Given the description of an element on the screen output the (x, y) to click on. 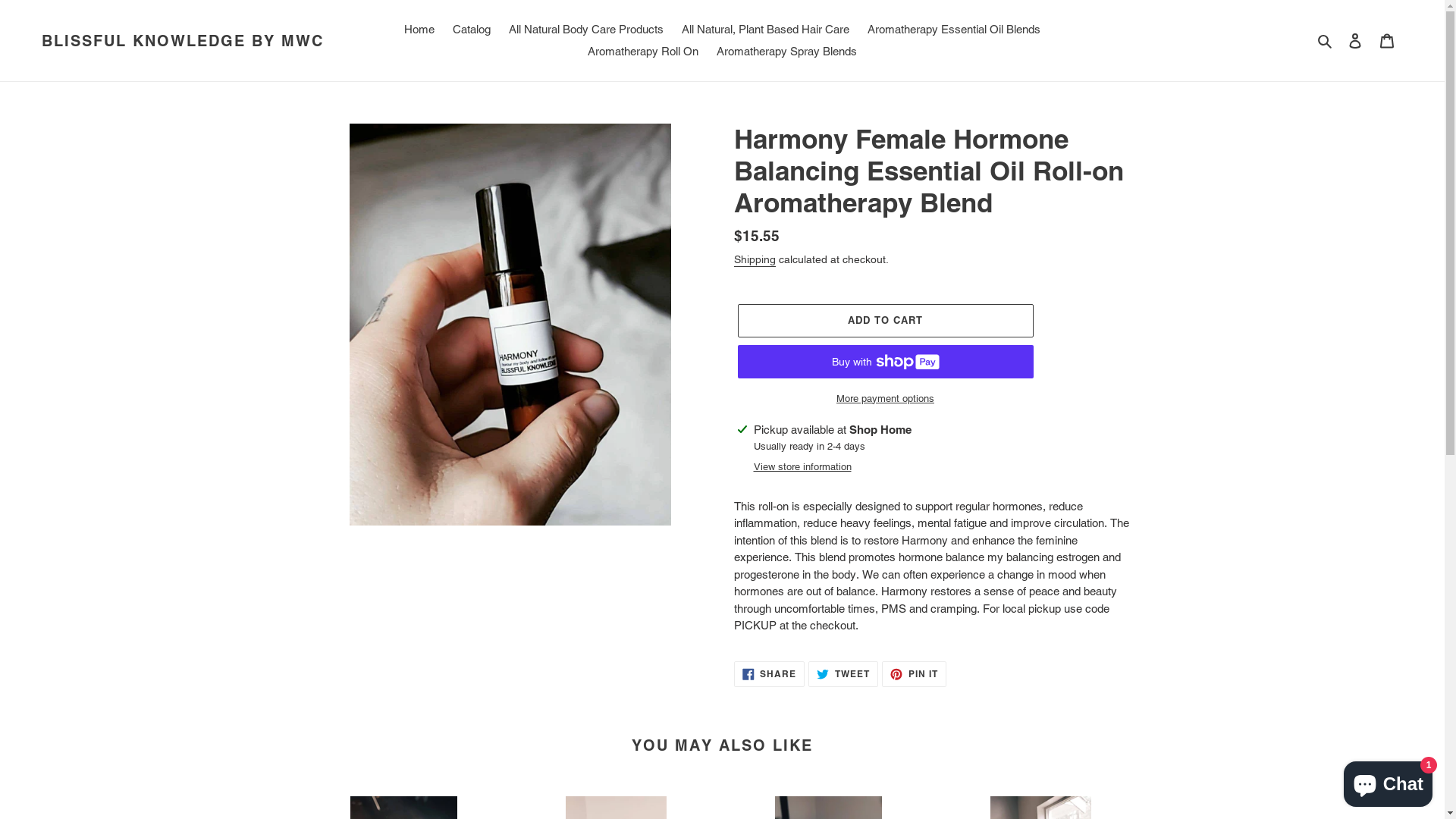
All Natural Body Care Products Element type: text (586, 29)
View store information Element type: text (802, 466)
BLISSFUL KNOWLEDGE BY MWC Element type: text (182, 40)
All Natural, Plant Based Hair Care Element type: text (765, 29)
Shopify online store chat Element type: hover (1388, 780)
Home Element type: text (419, 29)
Shipping Element type: text (754, 259)
ADD TO CART Element type: text (884, 320)
PIN IT
PIN ON PINTEREST Element type: text (913, 674)
More payment options Element type: text (884, 398)
TWEET
TWEET ON TWITTER Element type: text (843, 674)
Cart Element type: text (1386, 40)
Aromatherapy Roll On Element type: text (643, 51)
Search Element type: text (1325, 40)
Log in Element type: text (1355, 40)
SHARE
SHARE ON FACEBOOK Element type: text (769, 674)
Aromatherapy Essential Oil Blends Element type: text (953, 29)
Aromatherapy Spray Blends Element type: text (786, 51)
Catalog Element type: text (471, 29)
